Given the description of an element on the screen output the (x, y) to click on. 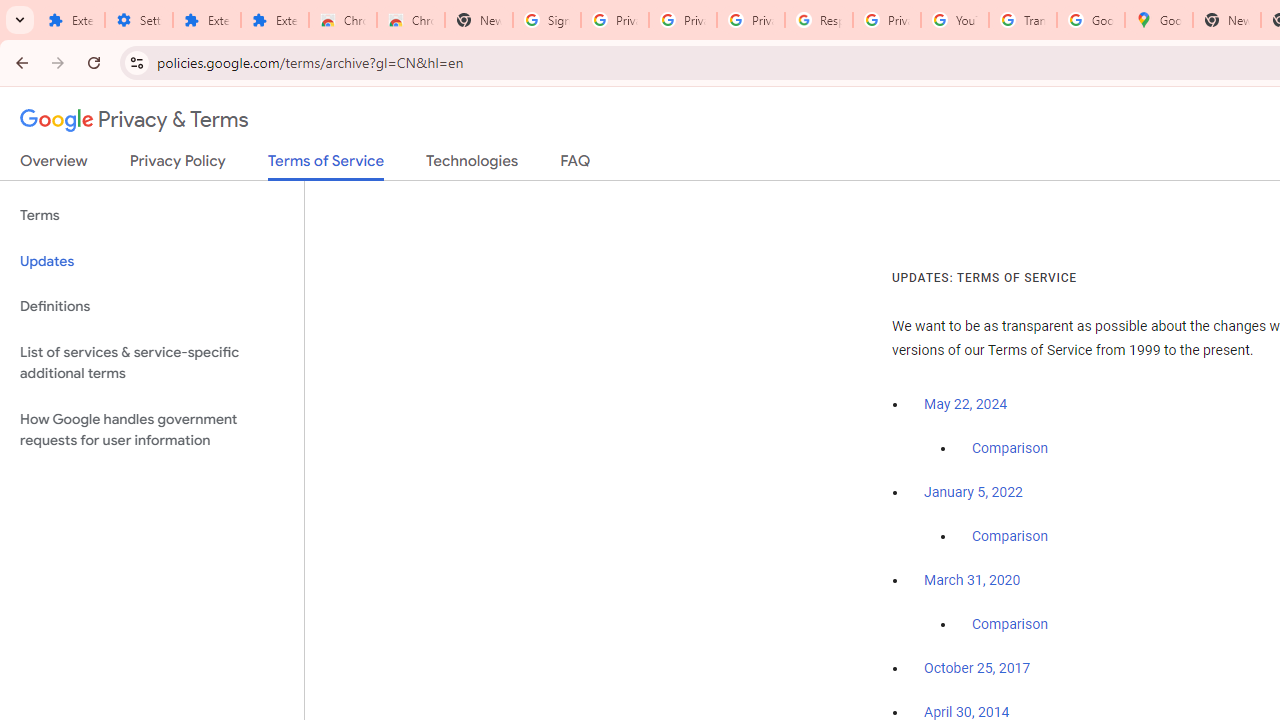
Extensions (206, 20)
New Tab (1226, 20)
May 22, 2024 (966, 404)
Google Maps (1158, 20)
Settings (138, 20)
Extensions (274, 20)
Chrome Web Store - Themes (411, 20)
